Given the description of an element on the screen output the (x, y) to click on. 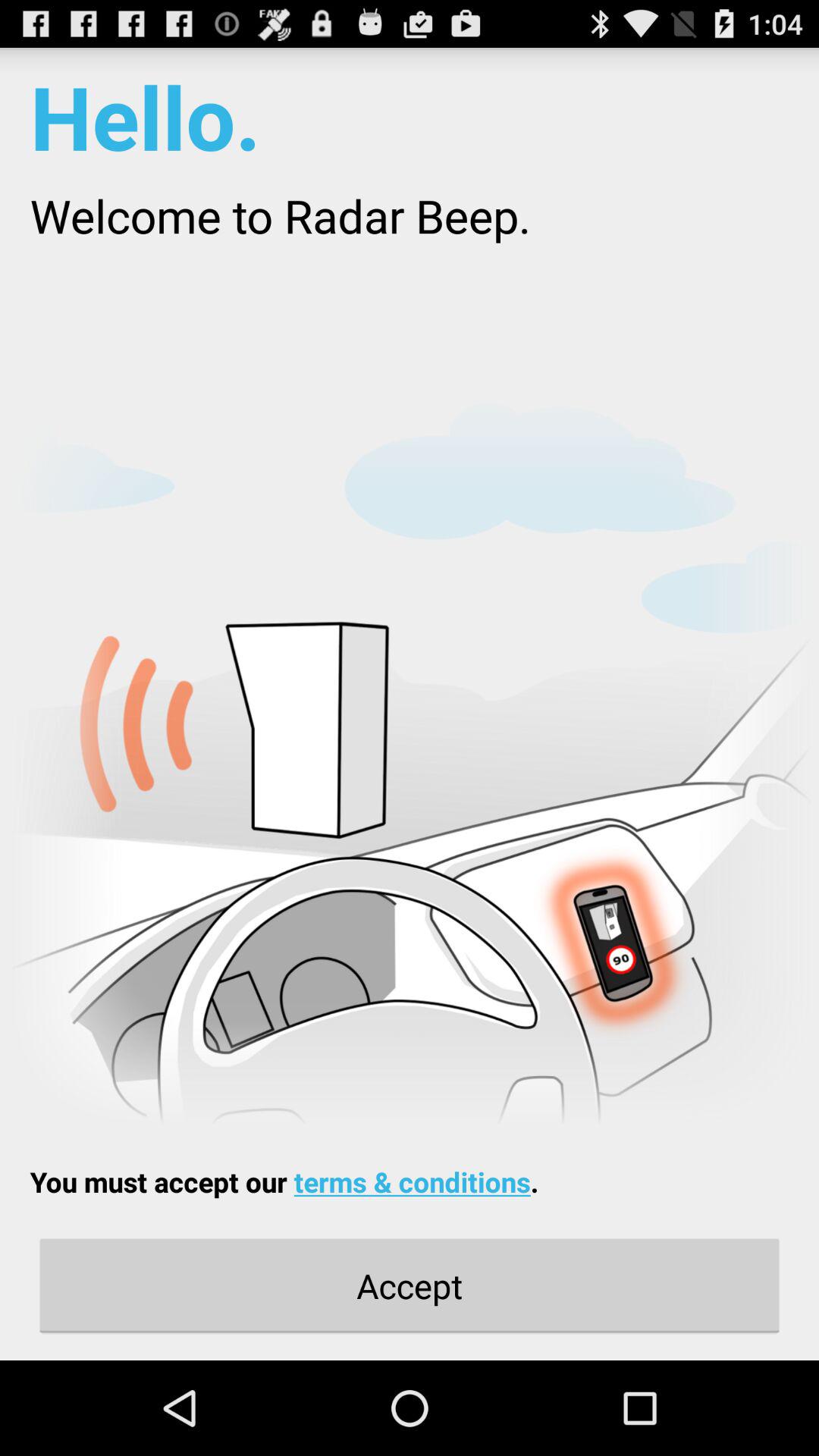
swipe to the you must accept (284, 1181)
